Given the description of an element on the screen output the (x, y) to click on. 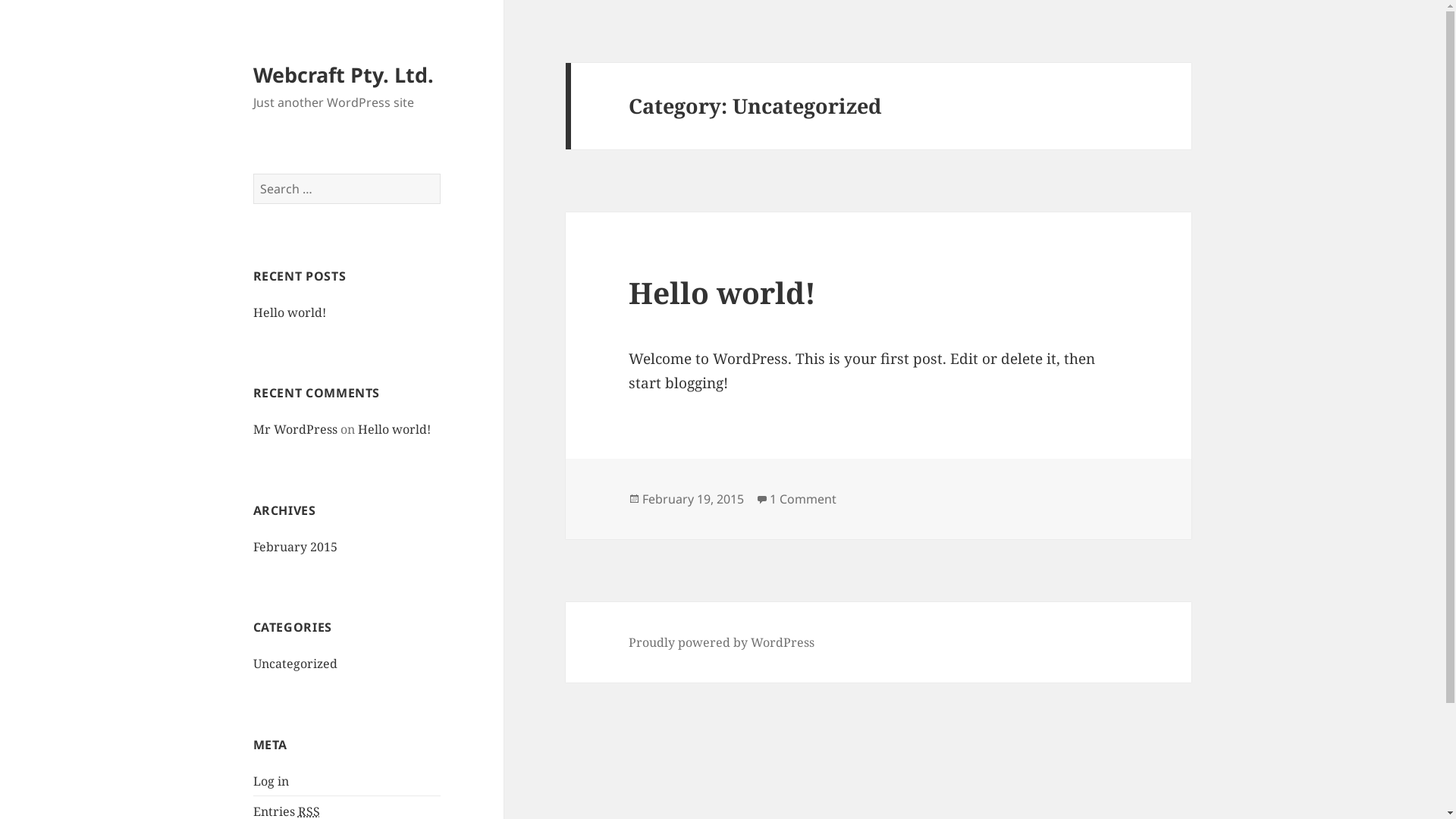
Proudly powered by WordPress Element type: text (721, 642)
Webcraft Pty. Ltd. Element type: text (343, 74)
Log in Element type: text (270, 780)
Hello world! Element type: text (289, 312)
Mr WordPress Element type: text (295, 428)
February 19, 2015 Element type: text (692, 499)
February 2015 Element type: text (295, 546)
Search Element type: text (440, 173)
1 Comment Element type: text (802, 499)
Hello world! Element type: text (393, 428)
Hello world! Element type: text (721, 292)
Uncategorized Element type: text (295, 663)
Search for: Element type: hover (347, 188)
